Given the description of an element on the screen output the (x, y) to click on. 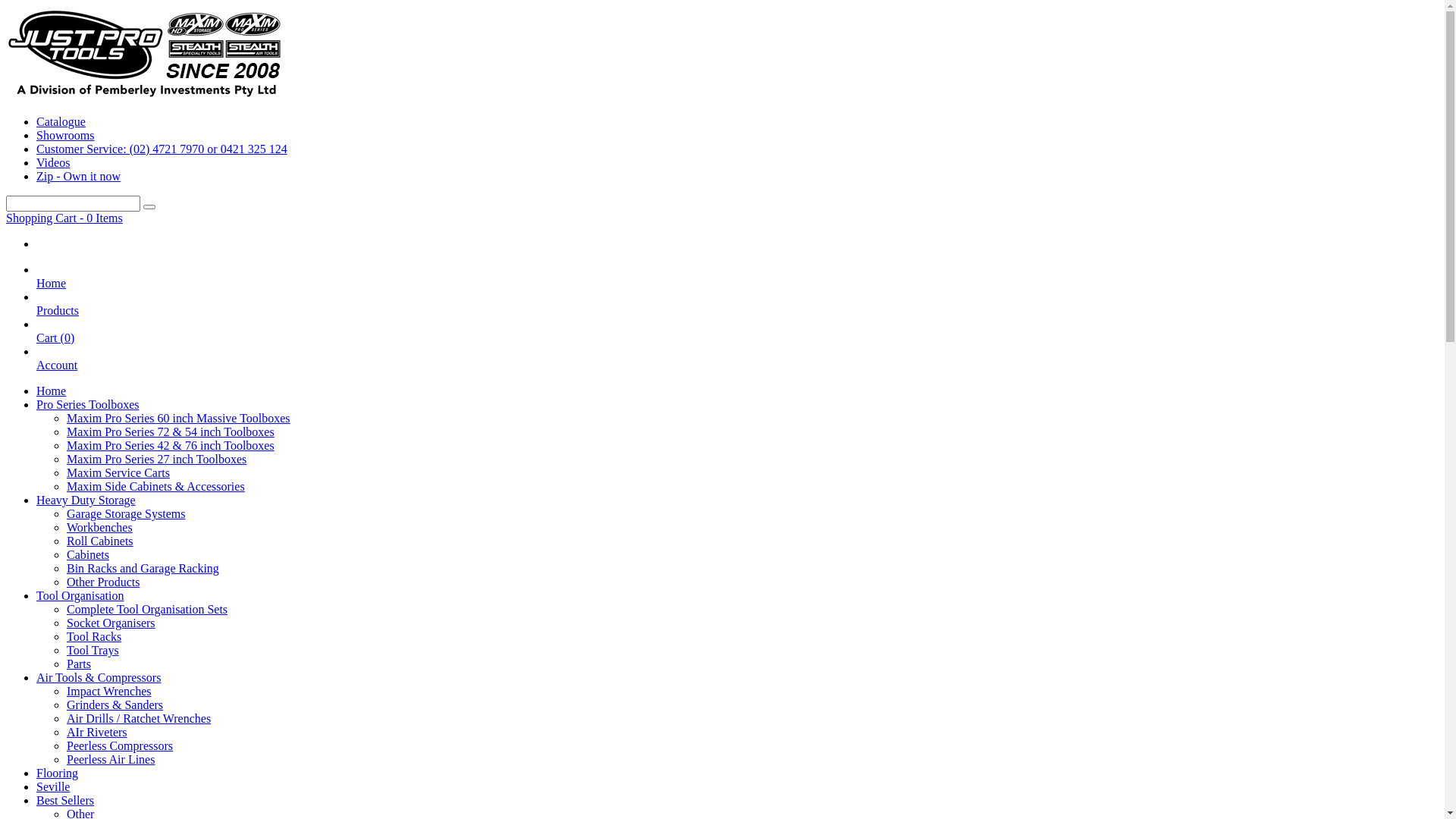
Peerless Compressors Element type: text (119, 745)
Impact Wrenches Element type: text (108, 690)
Just Pro Tools Element type: hover (145, 95)
Tool Trays Element type: text (92, 649)
Air Tools & Compressors Element type: text (98, 677)
Maxim Pro Series 60 inch Massive Toolboxes Element type: text (178, 417)
Socket Organisers Element type: text (110, 622)
Showrooms Element type: text (65, 134)
Videos Element type: text (52, 162)
Account Element type: text (56, 371)
Garage Storage Systems Element type: text (125, 513)
Maxim Side Cabinets & Accessories Element type: text (155, 486)
Parts Element type: text (78, 663)
Tool Racks Element type: text (93, 636)
Complete Tool Organisation Sets Element type: text (146, 608)
Home Element type: text (50, 289)
Search Element type: text (149, 206)
Flooring Element type: text (57, 772)
Maxim Service Carts Element type: text (117, 472)
Maxim Pro Series 72 & 54 inch Toolboxes Element type: text (170, 431)
AIr Riveters Element type: text (96, 731)
Air Drills / Ratchet Wrenches Element type: text (138, 718)
Heavy Duty Storage Element type: text (85, 499)
Pro Series Toolboxes Element type: text (87, 404)
Zip - Own it now Element type: text (78, 175)
Cabinets Element type: text (87, 554)
Customer Service: (02) 4721 7970 or 0421 325 124 Element type: text (161, 148)
Best Sellers Element type: text (65, 799)
Seville Element type: text (52, 786)
Cart (0) Element type: text (55, 344)
Maxim Pro Series 27 inch Toolboxes Element type: text (156, 458)
Roll Cabinets Element type: text (99, 540)
Home Element type: text (50, 390)
Shopping Cart - 0 Items Element type: text (64, 217)
Maxim Pro Series 42 & 76 inch Toolboxes Element type: text (170, 445)
Grinders & Sanders Element type: text (114, 704)
Catalogue Element type: text (60, 121)
Bin Racks and Garage Racking Element type: text (142, 567)
Other Products Element type: text (102, 581)
Products Element type: text (57, 317)
Tool Organisation Element type: text (79, 595)
Workbenches Element type: text (99, 526)
Peerless Air Lines Element type: text (110, 759)
